Given the description of an element on the screen output the (x, y) to click on. 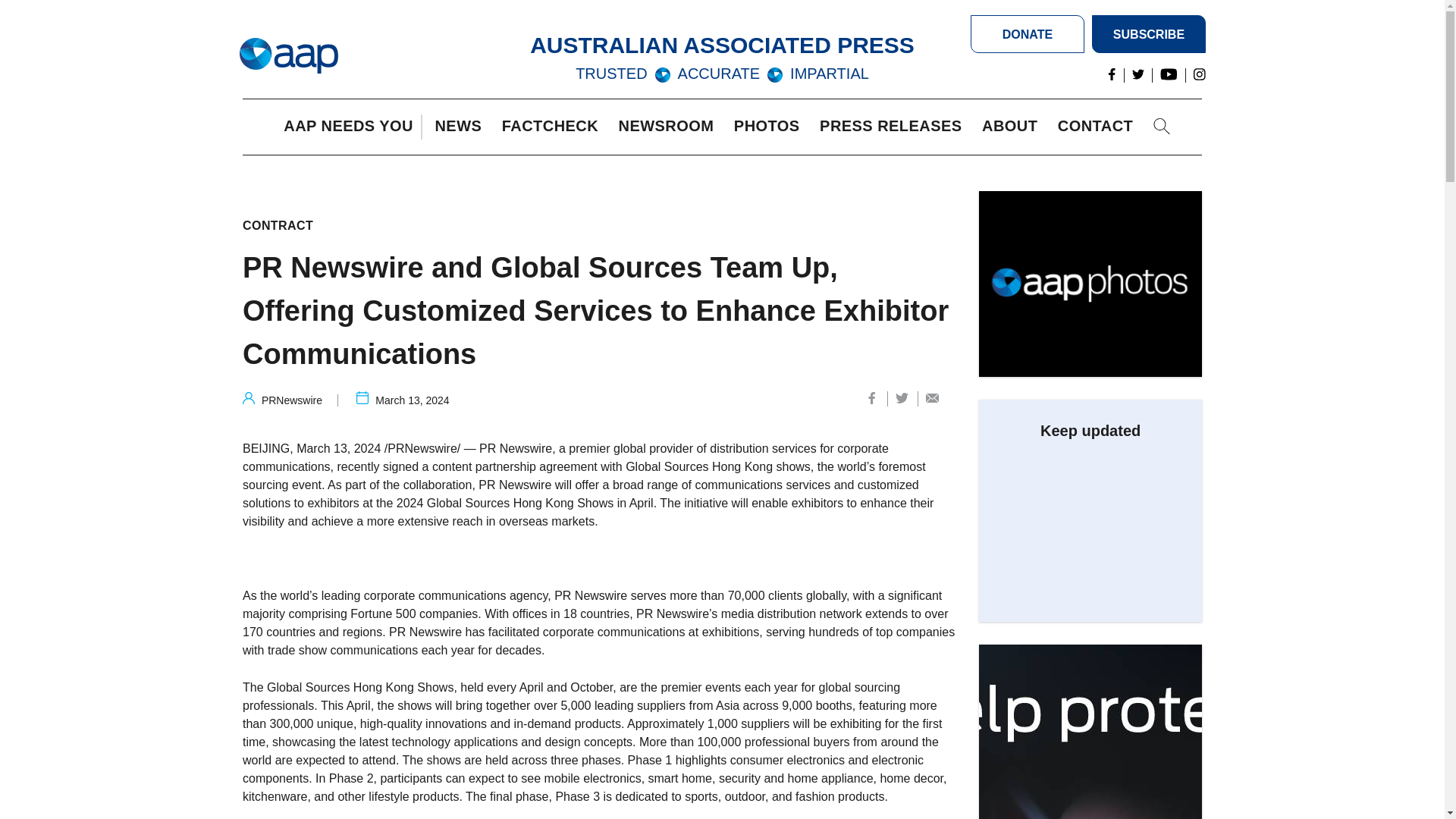
ABOUT (1013, 126)
SUBSCRIBE (1148, 34)
PHOTOS (770, 126)
Form 0 (1090, 525)
FACTCHECK (553, 126)
AAP NEEDS YOU (351, 126)
NEWSROOM (670, 126)
Home (288, 56)
NEWS (461, 126)
PRESS RELEASES (894, 126)
AUSTRALIAN ASSOCIATED PRESS (721, 44)
CONTACT (1099, 126)
DONATE (1027, 34)
